Given the description of an element on the screen output the (x, y) to click on. 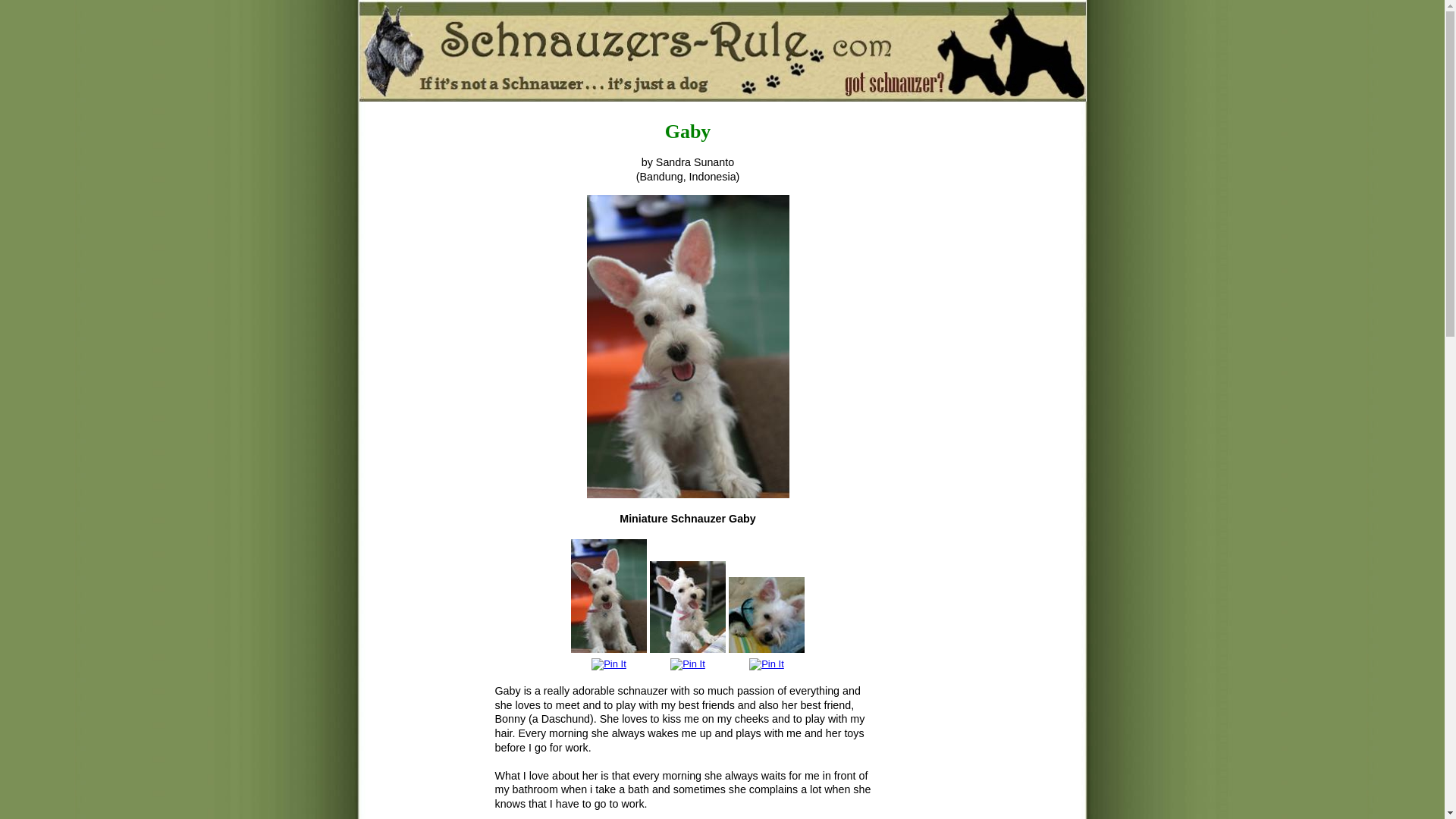
Pin It (686, 664)
Pin It (766, 664)
Pin It (608, 664)
Miniature Schnauzer Gaby (767, 614)
